Given the description of an element on the screen output the (x, y) to click on. 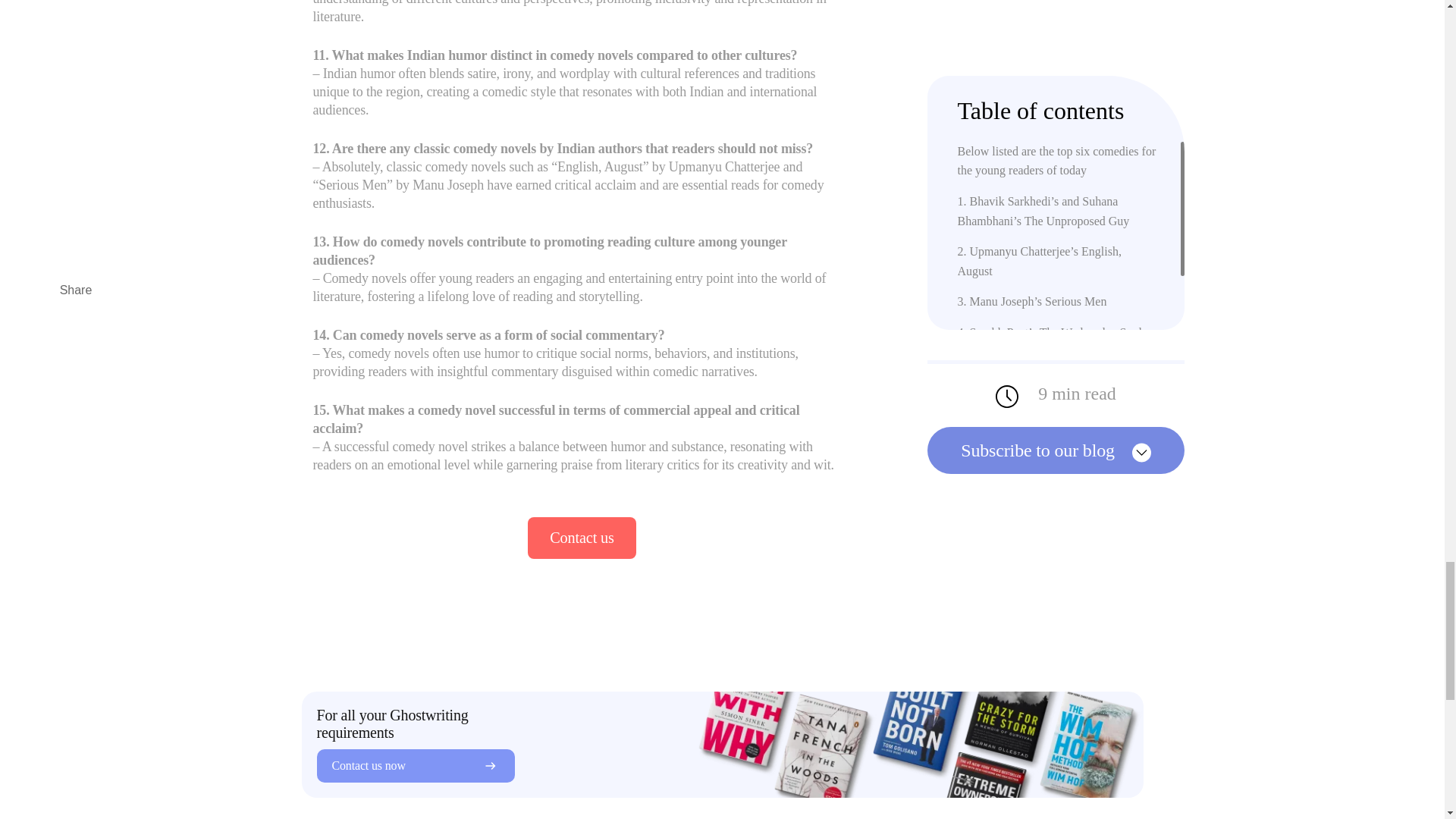
Contact Us (580, 537)
Contact us now (416, 765)
Contact us (580, 537)
